Given the description of an element on the screen output the (x, y) to click on. 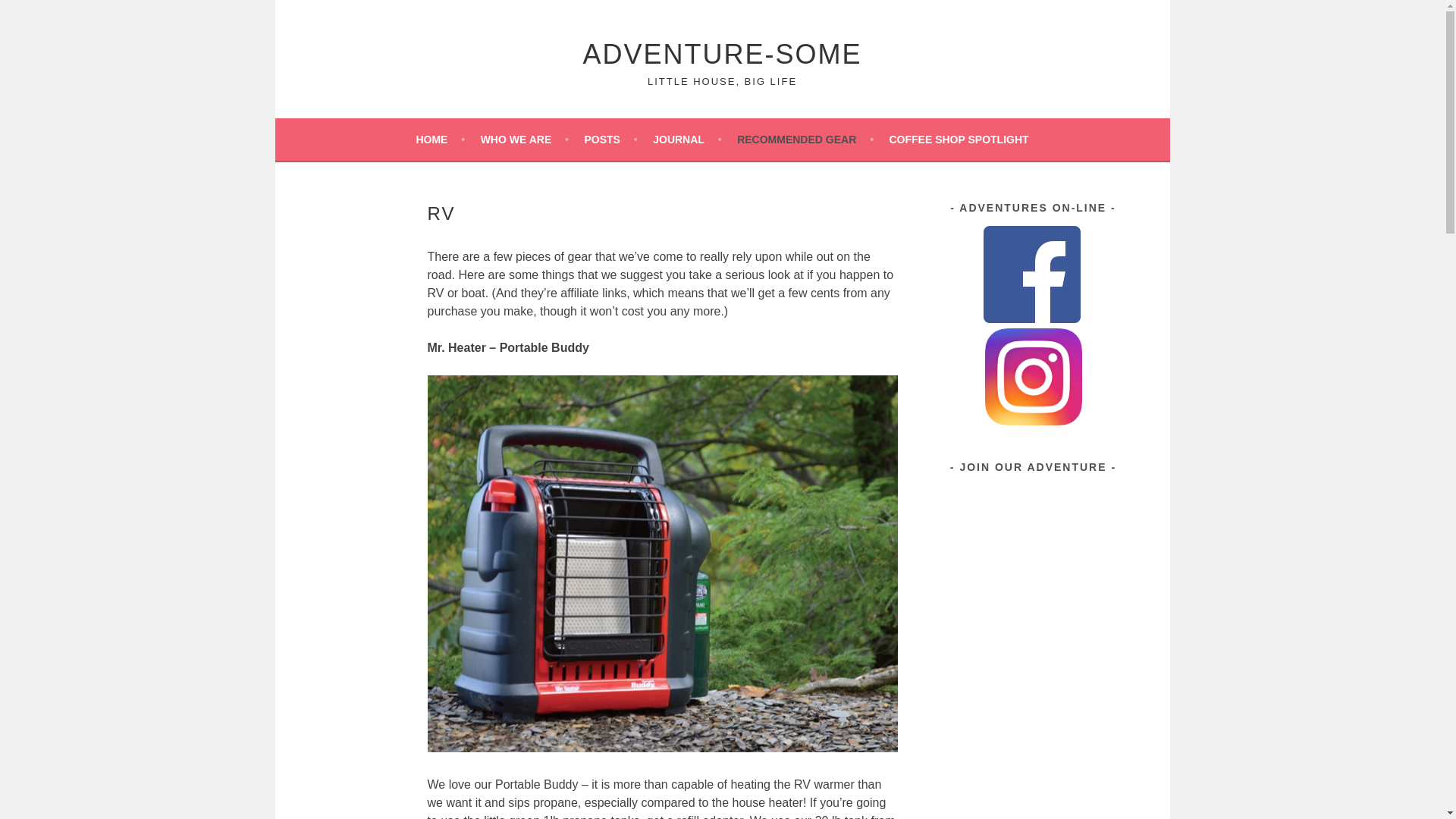
ADVENTURE-SOME (721, 53)
COFFEE SHOP SPOTLIGHT (957, 139)
Adventure-Some (721, 53)
HOME (439, 139)
RECOMMENDED GEAR (804, 139)
JOURNAL (686, 139)
WHO WE ARE (524, 139)
POSTS (610, 139)
